Given the description of an element on the screen output the (x, y) to click on. 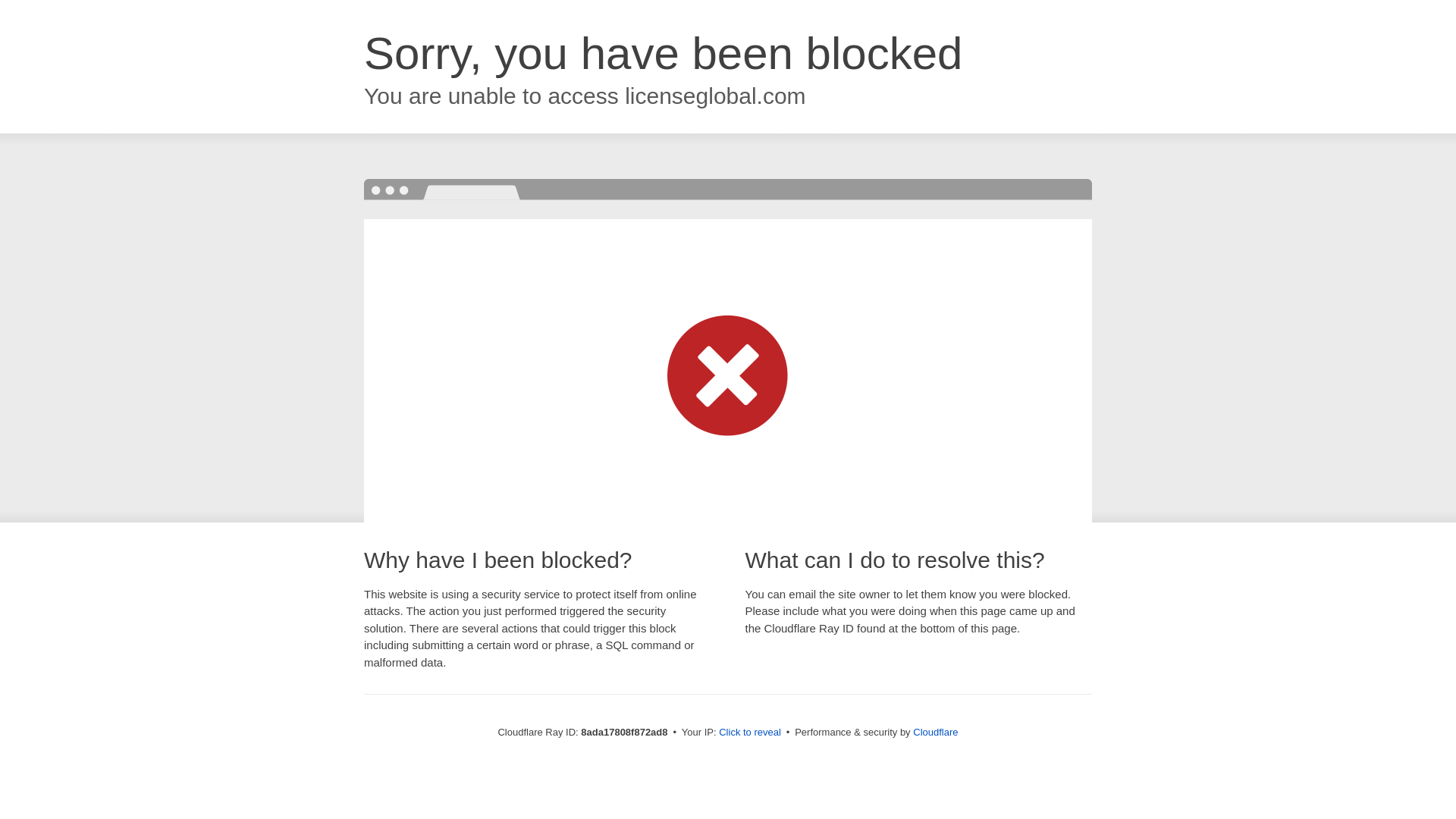
Click to reveal (749, 732)
Cloudflare (935, 731)
